Given the description of an element on the screen output the (x, y) to click on. 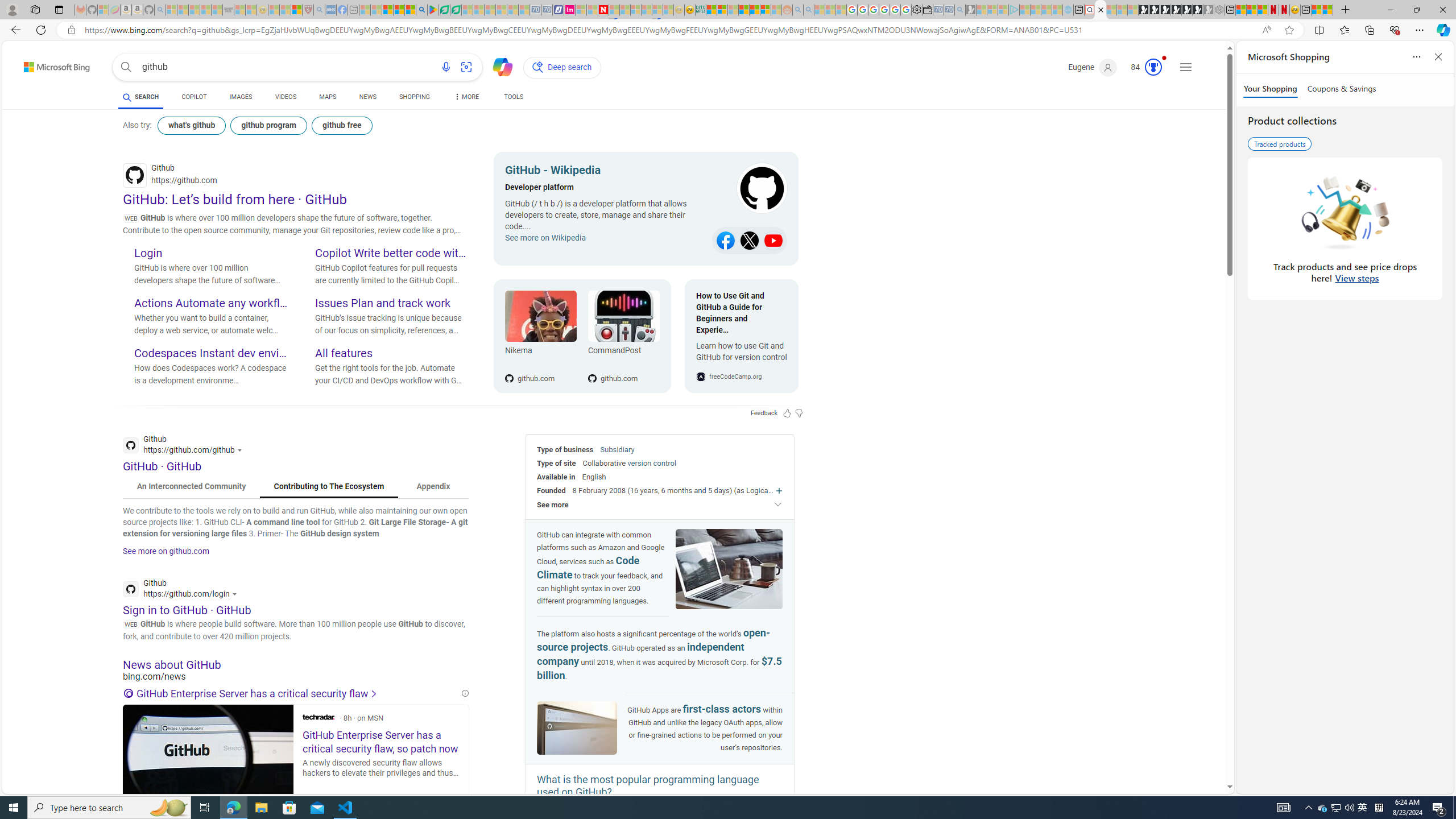
Kinda Frugal - MSN (754, 9)
github free (341, 125)
The Weather Channel - MSN - Sleeping (194, 9)
SHOPPING (414, 96)
Recipes - MSN - Sleeping (273, 9)
github.com (623, 359)
Settings and quick links (1185, 67)
Wallet (927, 9)
Microsoft Start Gaming - Sleeping (970, 9)
Subsidiary (616, 449)
